Given the description of an element on the screen output the (x, y) to click on. 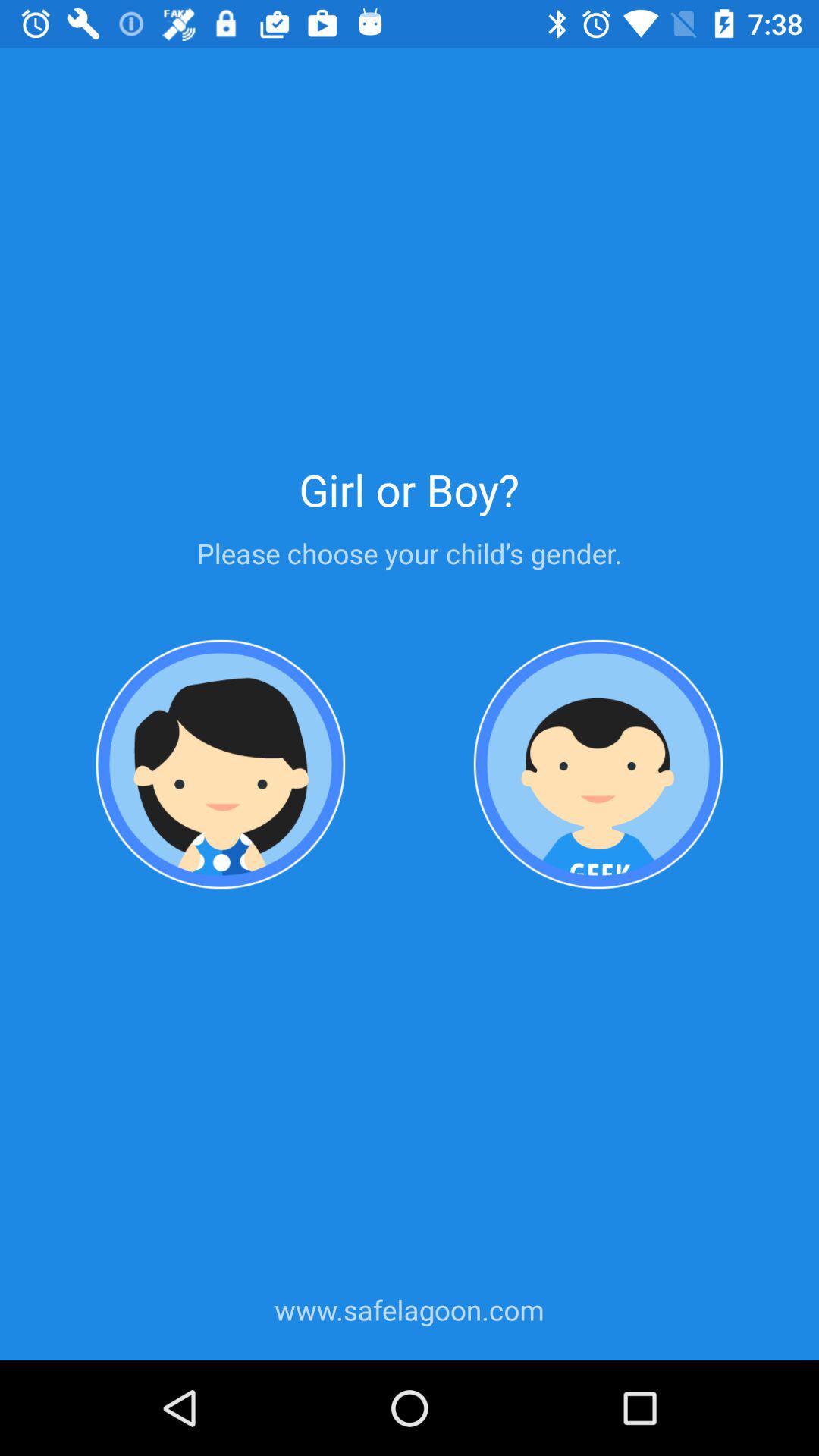
choose female (220, 765)
